Given the description of an element on the screen output the (x, y) to click on. 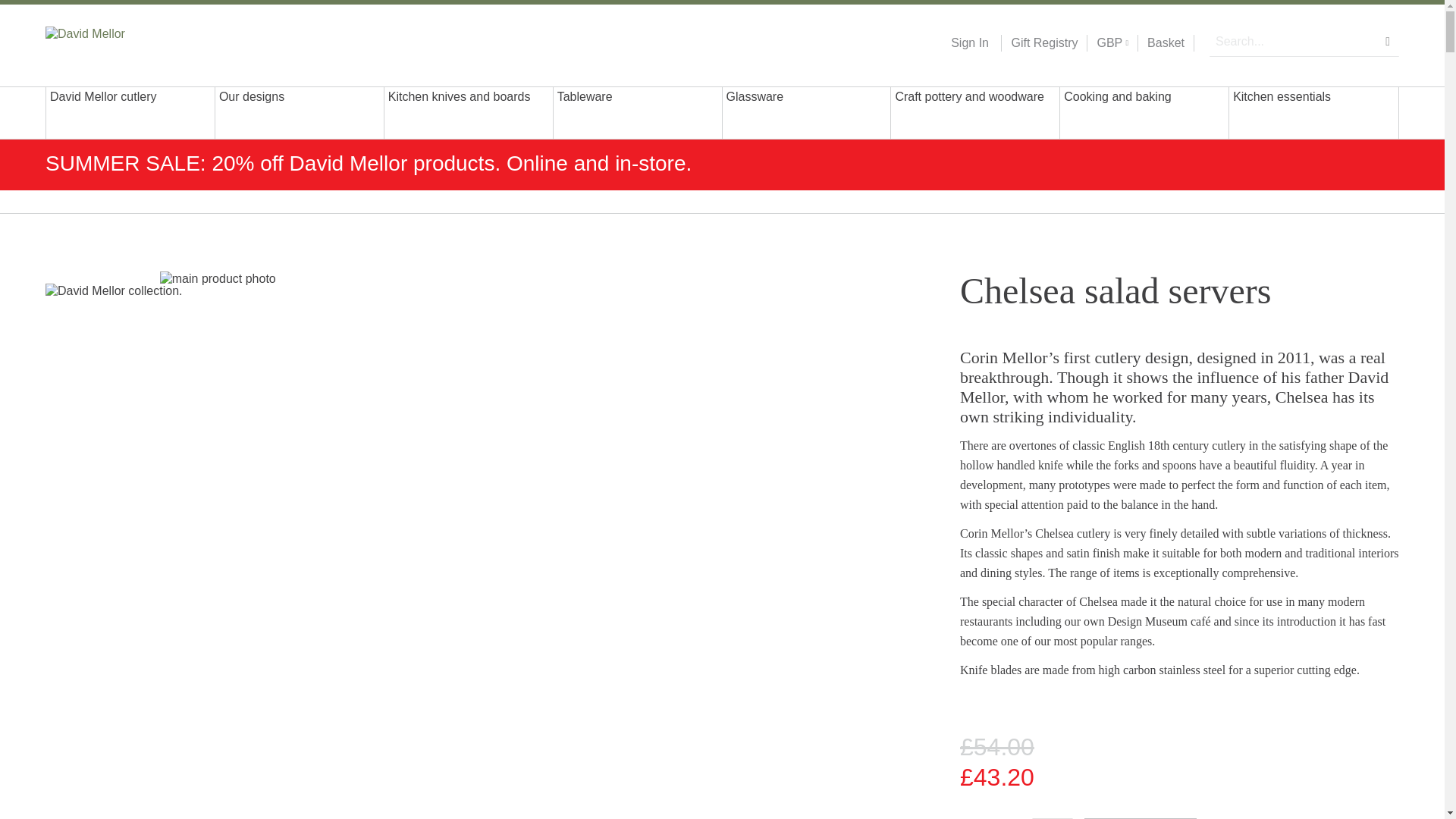
Sign In (969, 43)
Basket (1166, 43)
Search (1388, 41)
Gift Registry (1039, 43)
David Mellor (143, 42)
Search (1388, 41)
1 (1052, 818)
Qty (1052, 818)
David Mellor cutlery (130, 112)
